Given the description of an element on the screen output the (x, y) to click on. 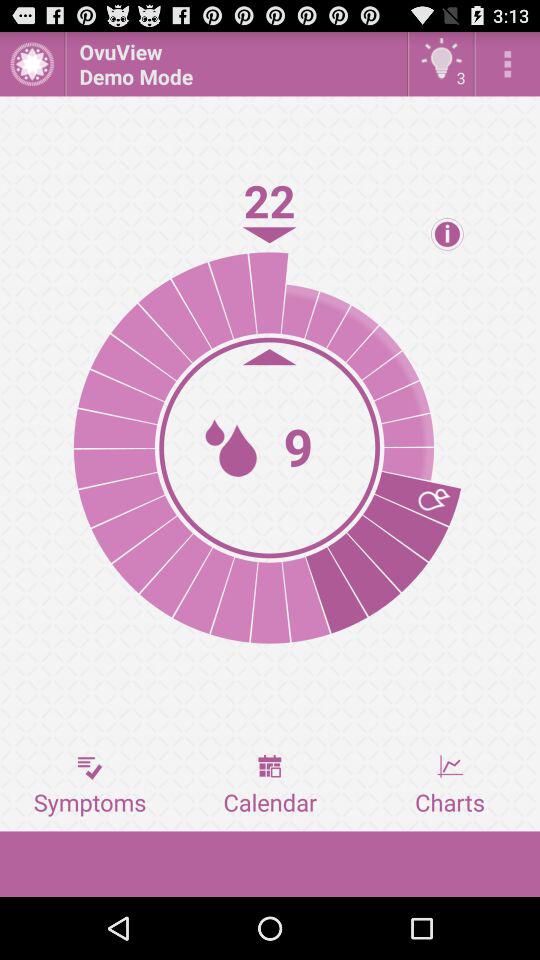
open item next to the charts item (270, 785)
